Given the description of an element on the screen output the (x, y) to click on. 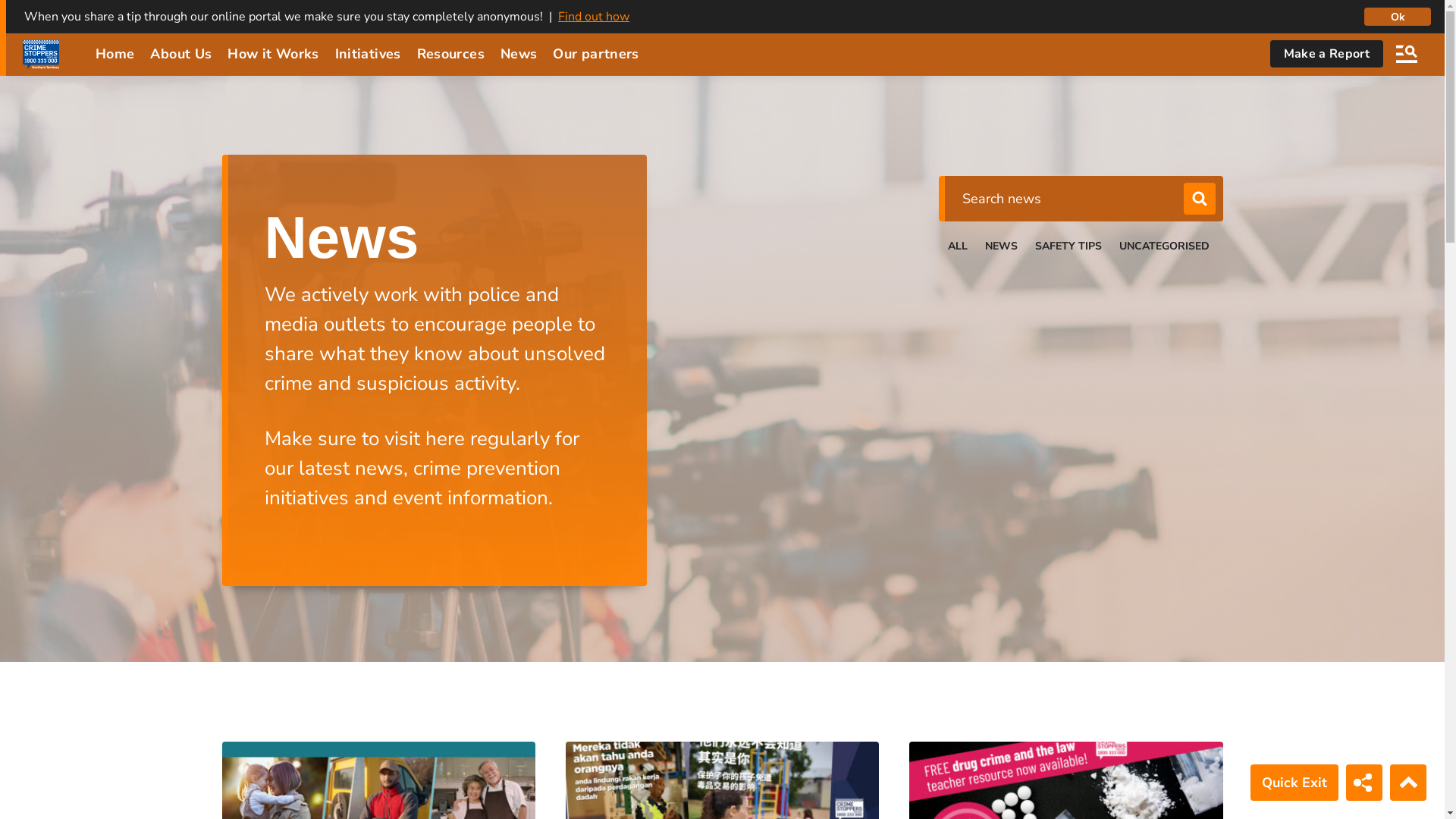
News Element type: text (518, 53)
Our partners Element type: text (595, 53)
Resources Element type: text (450, 53)
Make a Report Element type: text (1326, 53)
How it Works Element type: text (272, 53)
Ok Element type: text (1397, 16)
Search Element type: text (1406, 53)
ALL Element type: text (957, 245)
NEWS Element type: text (1000, 245)
share Element type: hover (1364, 782)
Home Element type: text (114, 53)
Search Element type: text (1198, 198)
UNCATEGORISED Element type: text (1164, 245)
Quick Exit Element type: text (1294, 782)
SAFETY TIPS Element type: text (1067, 245)
Initiatives Element type: text (368, 53)
About Us Element type: text (180, 53)
Find out how Element type: text (593, 16)
Back to Top Element type: text (1408, 782)
